Given the description of an element on the screen output the (x, y) to click on. 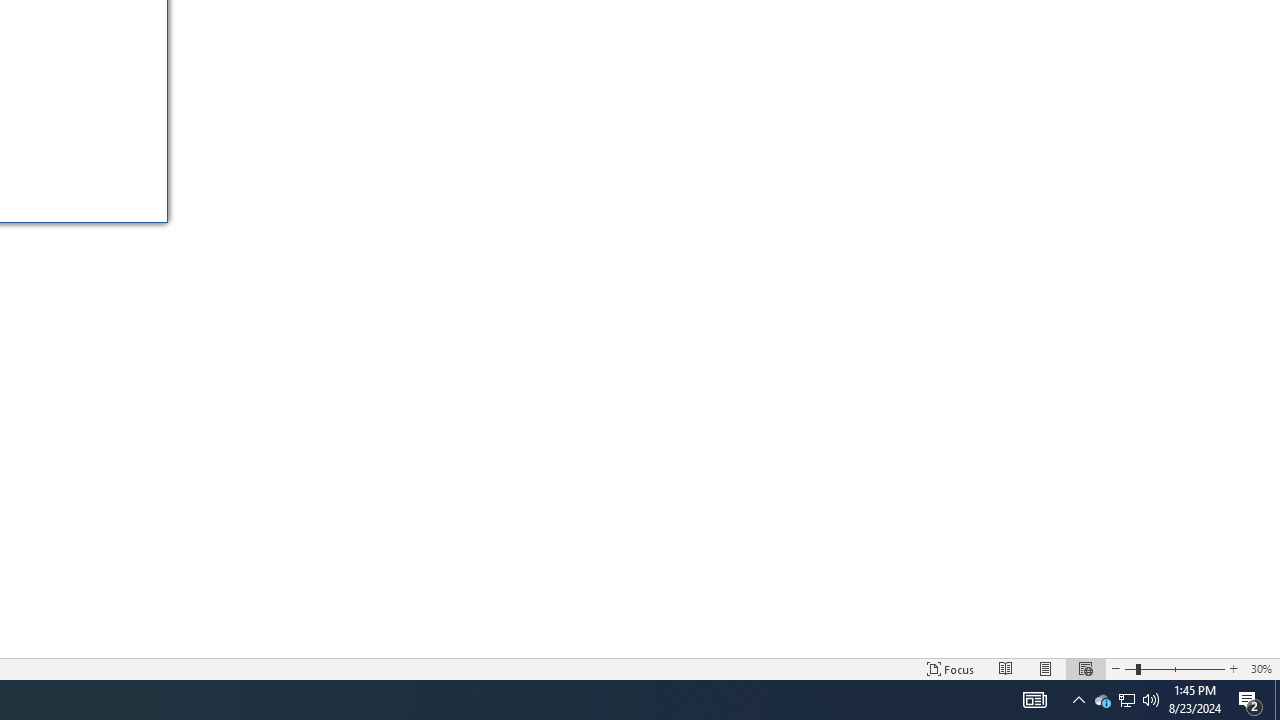
Print Layout (1126, 699)
